Given the description of an element on the screen output the (x, y) to click on. 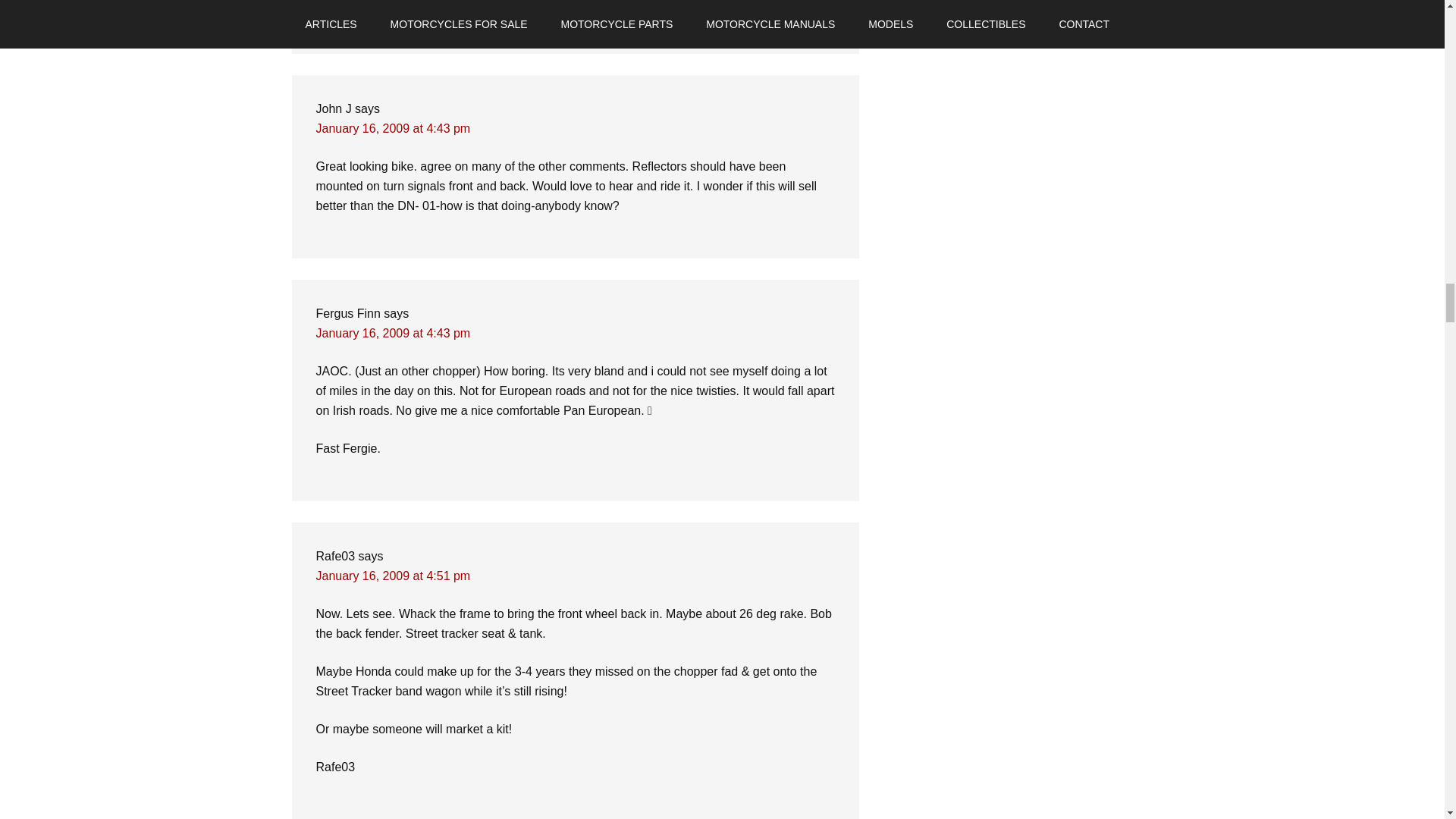
January 16, 2009 at 4:51 pm (392, 575)
January 16, 2009 at 4:43 pm (392, 128)
January 16, 2009 at 4:43 pm (392, 332)
